Given the description of an element on the screen output the (x, y) to click on. 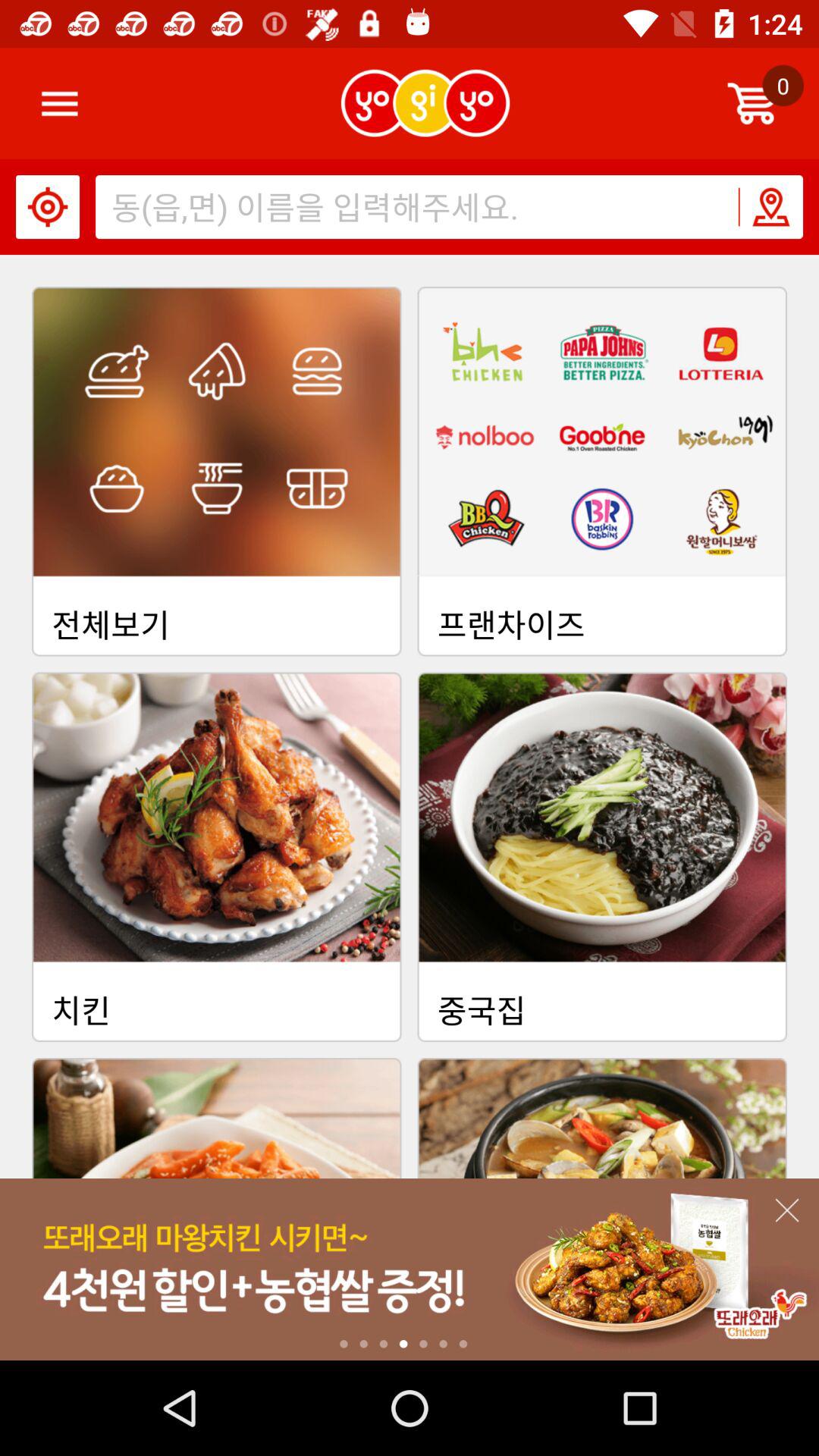
select the first image from left (216, 471)
